Given the description of an element on the screen output the (x, y) to click on. 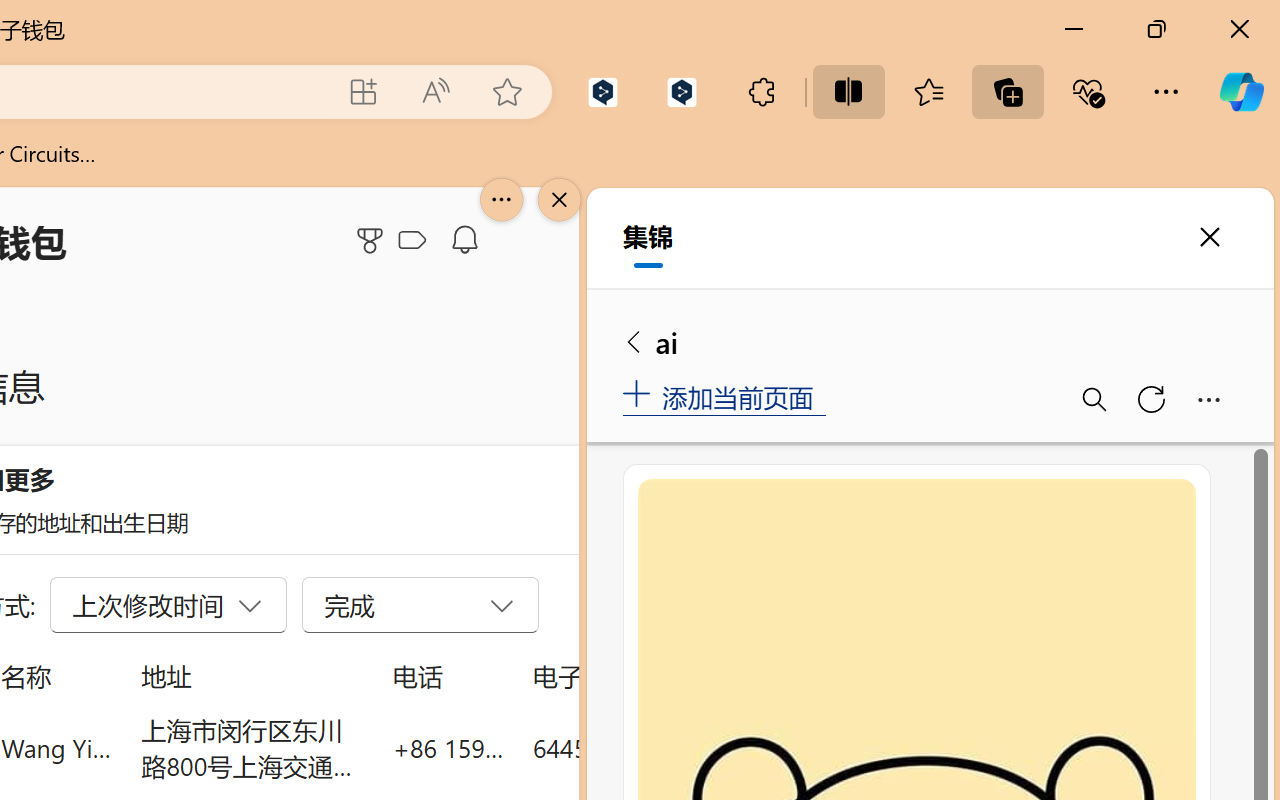
Copilot (Ctrl+Shift+.) (1241, 91)
644553698@qq.com (644, 747)
Microsoft Rewards (373, 240)
Microsoft Cashback (415, 241)
